Given the description of an element on the screen output the (x, y) to click on. 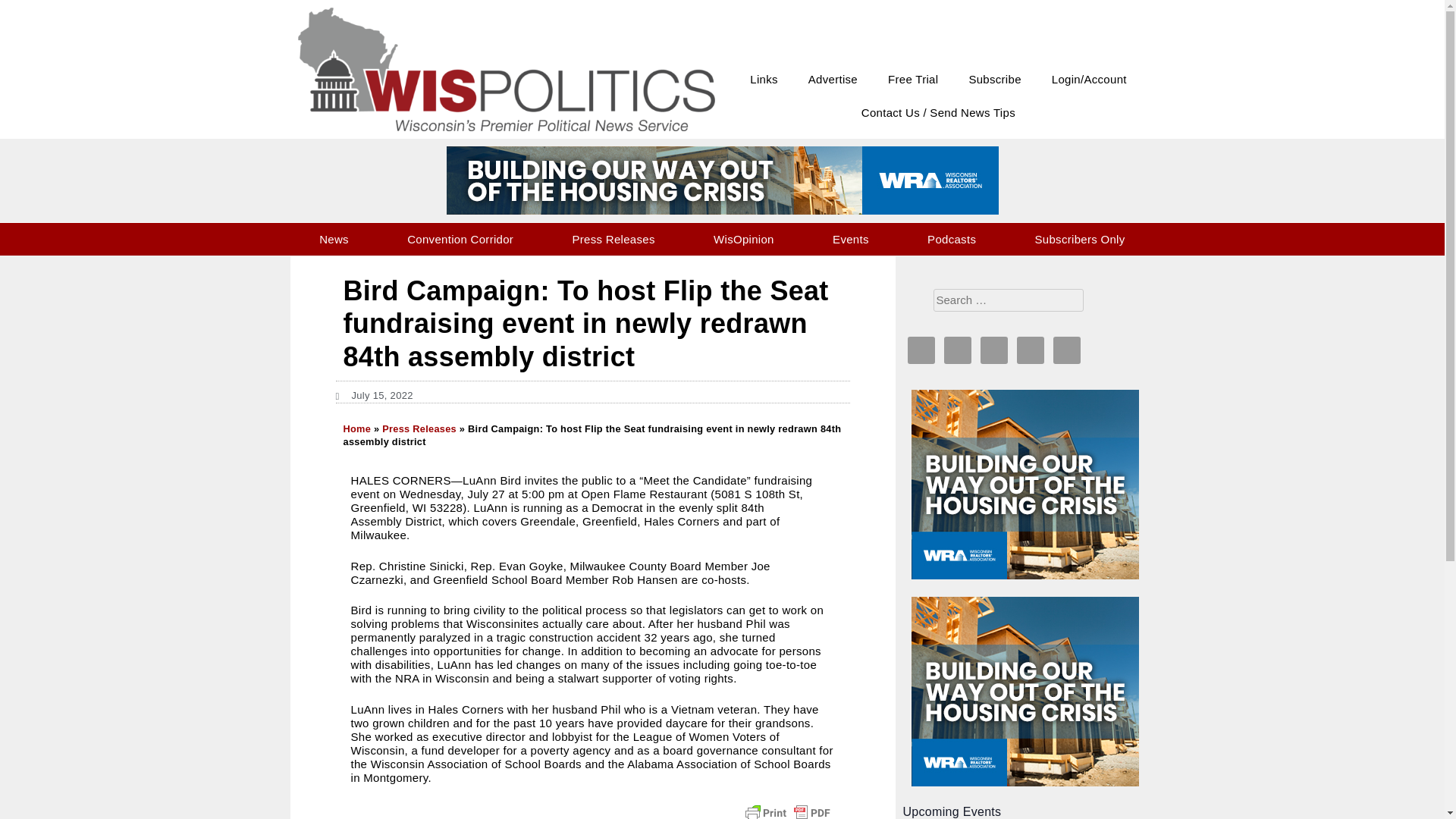
WisOpinion (743, 239)
Links (764, 79)
Subscribers Only (1080, 239)
Free Trial (912, 79)
Press Releases (613, 239)
Podcasts (951, 239)
Convention Corridor (460, 239)
Subscribe (994, 79)
Advertise (832, 79)
Events (850, 239)
